Given the description of an element on the screen output the (x, y) to click on. 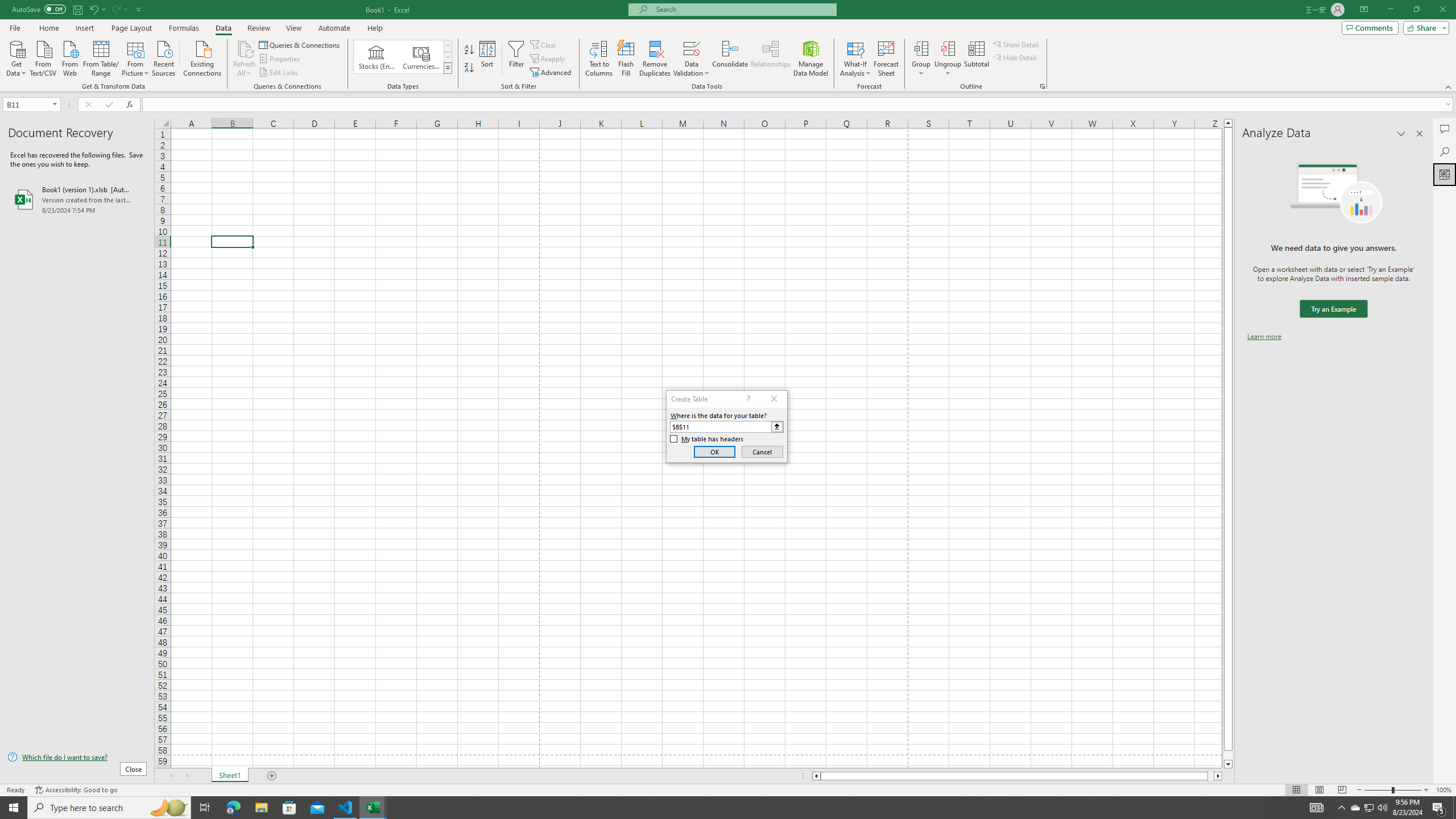
Show Detail (1016, 44)
We need data to give you answers. Try an Example (1333, 308)
Search (1444, 151)
Relationships (770, 58)
Sort A to Z (469, 49)
Existing Connections (202, 57)
